Given the description of an element on the screen output the (x, y) to click on. 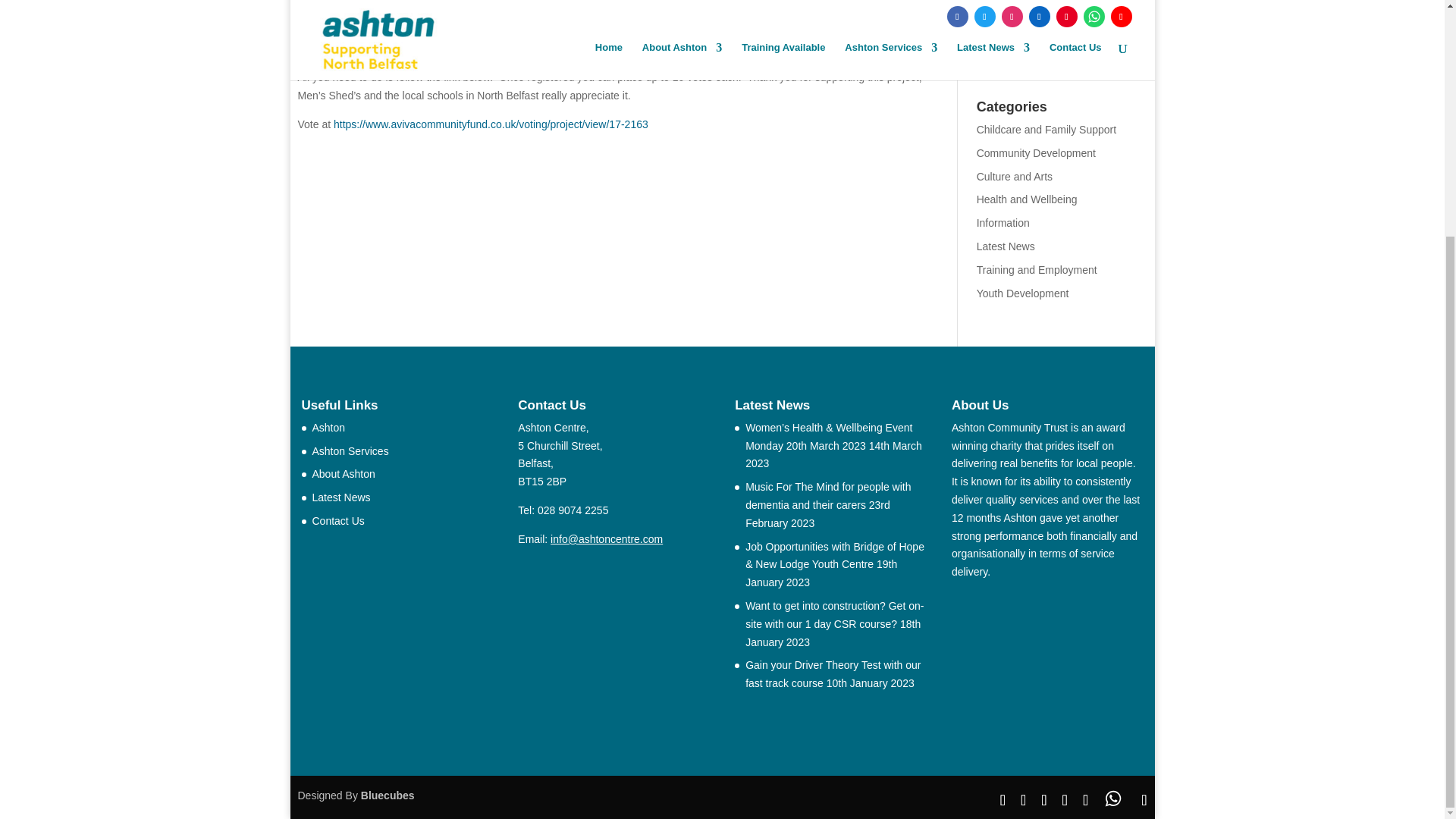
Bluecubes (387, 795)
